Given the description of an element on the screen output the (x, y) to click on. 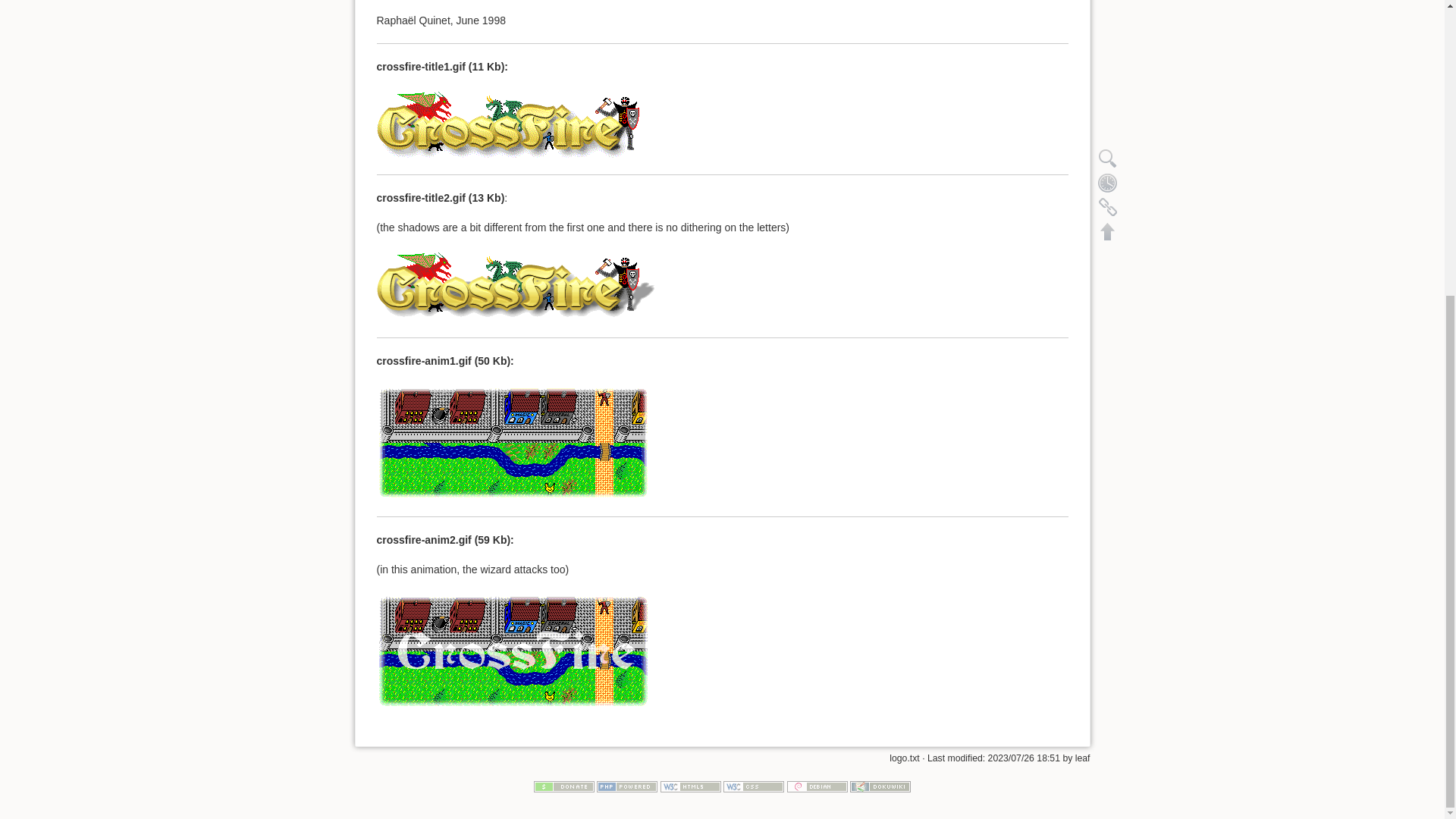
images:crossfire-title2.gif (515, 285)
images:crossfire-title1.gif (507, 123)
